Given the description of an element on the screen output the (x, y) to click on. 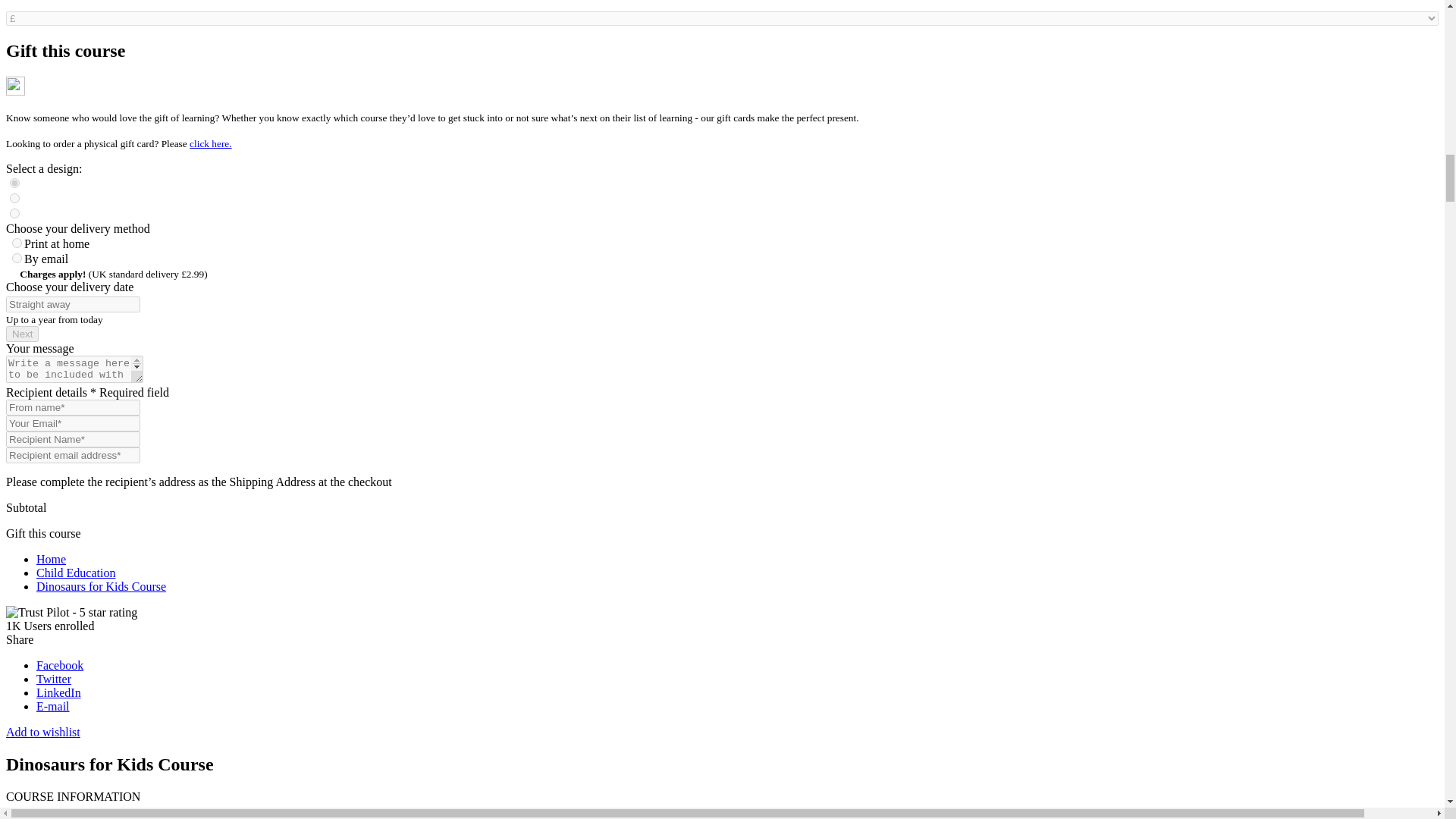
xmas (15, 198)
Child Education (75, 572)
Dinosaurs for Kids Course (100, 585)
birthday (15, 213)
Home (50, 558)
